Given the description of an element on the screen output the (x, y) to click on. 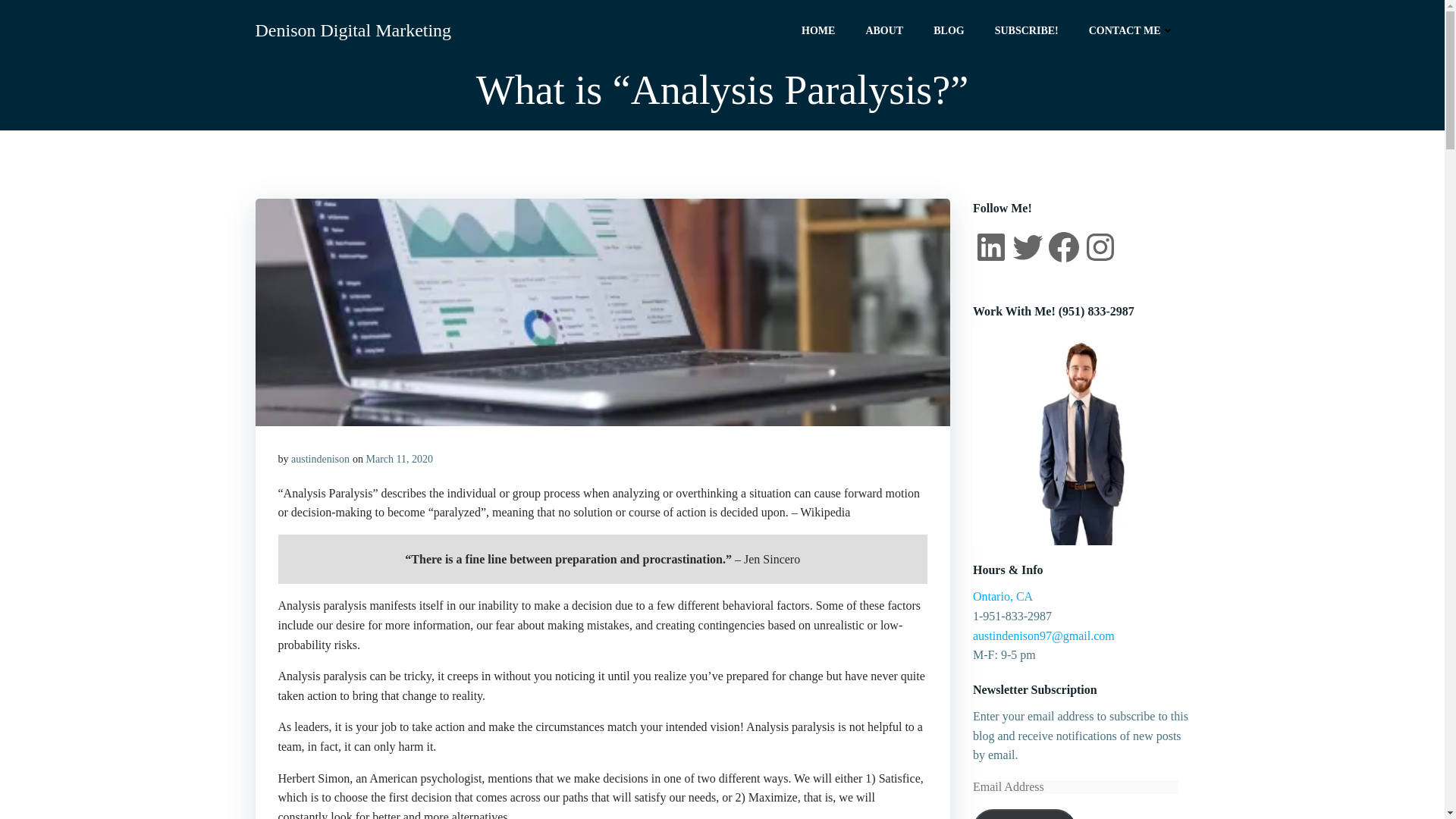
Instagram (1099, 247)
Facebook (1063, 247)
HOME (818, 30)
ABOUT (883, 30)
March 11, 2020 (398, 459)
Denison Digital Marketing (352, 30)
LinkedIn (990, 247)
SUBSCRIBE! (1026, 30)
CONTACT ME (1131, 30)
austindenison (320, 459)
BLOG (948, 30)
Subscribe (1023, 814)
Ontario, CA (1002, 595)
Twitter (1027, 247)
